Given the description of an element on the screen output the (x, y) to click on. 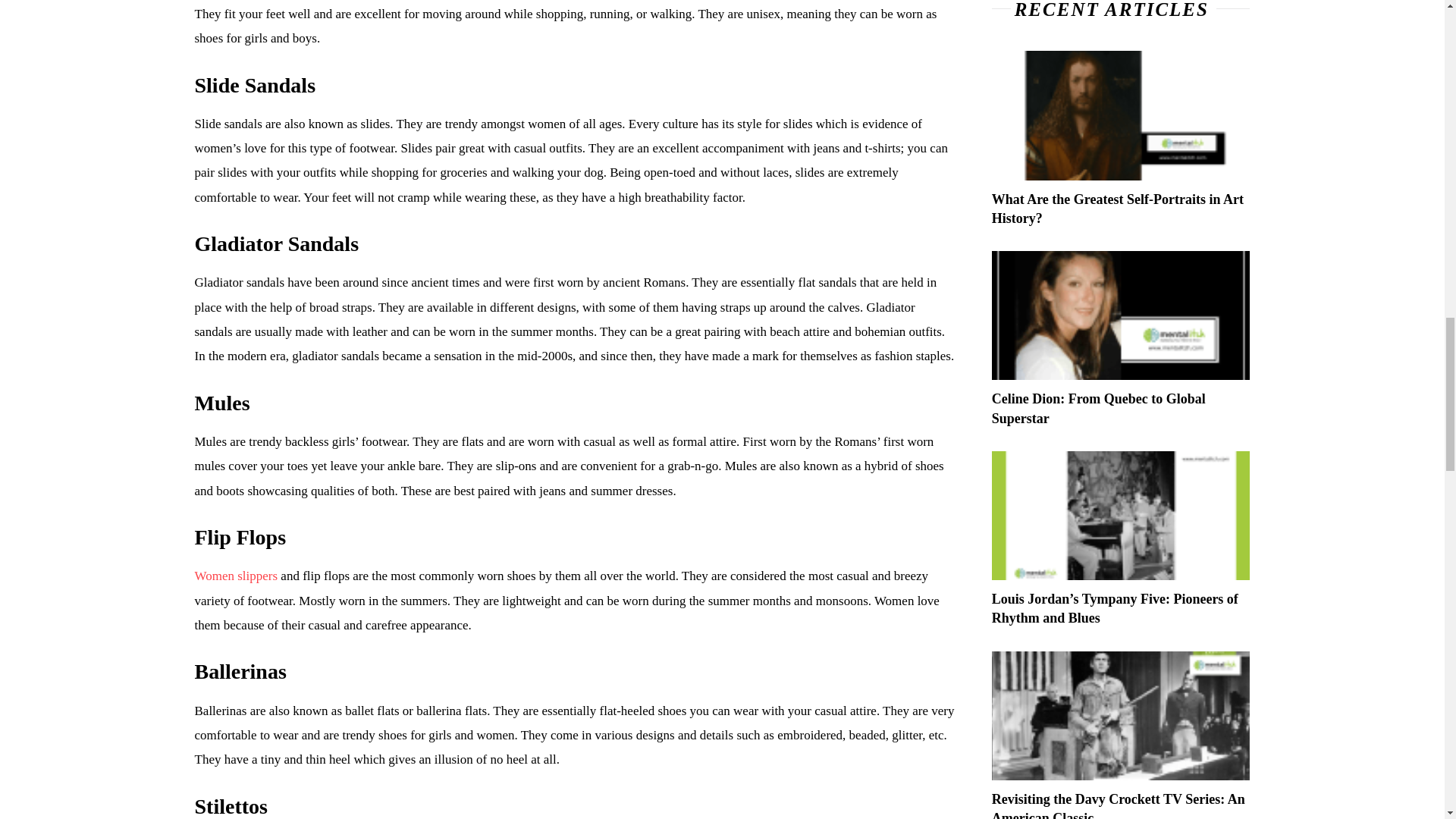
What Are the Greatest Self-Portraits in Art History? (1120, 114)
